Given the description of an element on the screen output the (x, y) to click on. 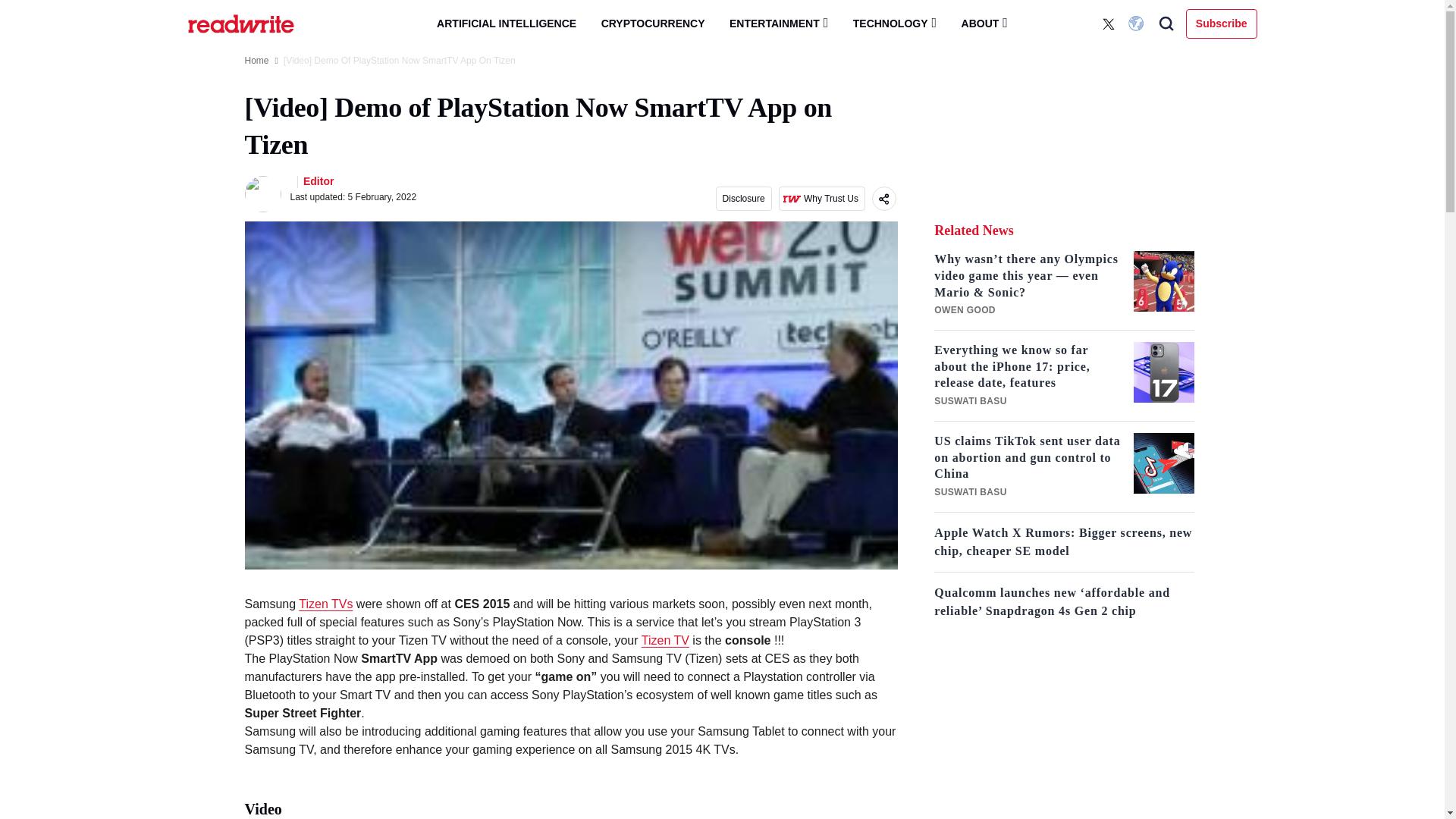
ENTERTAINMENT (778, 23)
TECHNOLOGY (895, 23)
Home (255, 60)
English (1137, 23)
CRYPTOCURRENCY (653, 23)
Subscribe (1221, 23)
ARTIFICIAL INTELLIGENCE (506, 23)
ABOUT (983, 23)
